Given the description of an element on the screen output the (x, y) to click on. 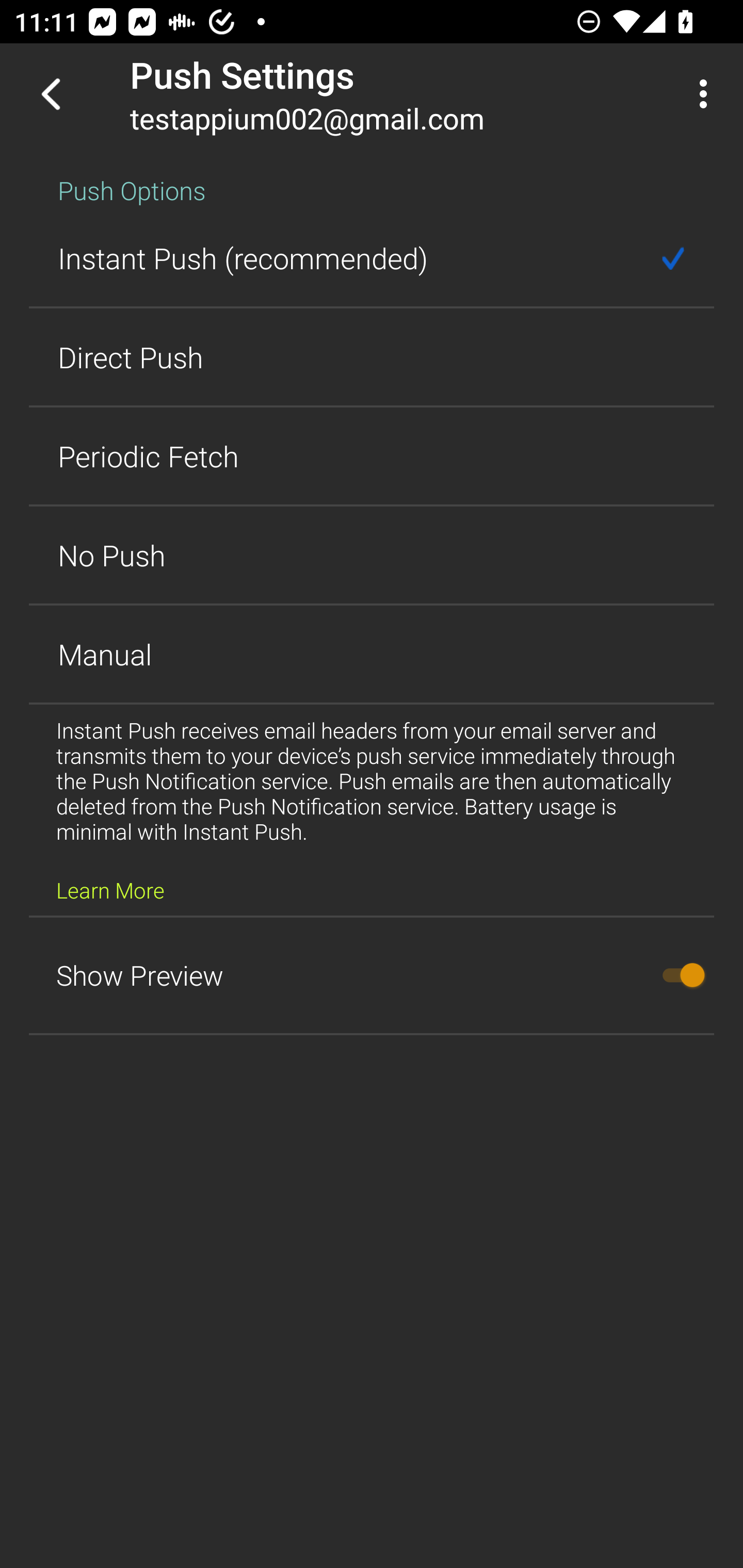
Navigate up (50, 93)
More options (706, 93)
Instant Push (recommended) (371, 257)
Direct Push (371, 357)
Periodic Fetch (371, 455)
No Push (371, 554)
Manual (371, 653)
Learn More (110, 889)
Show Preview (371, 975)
